Given the description of an element on the screen output the (x, y) to click on. 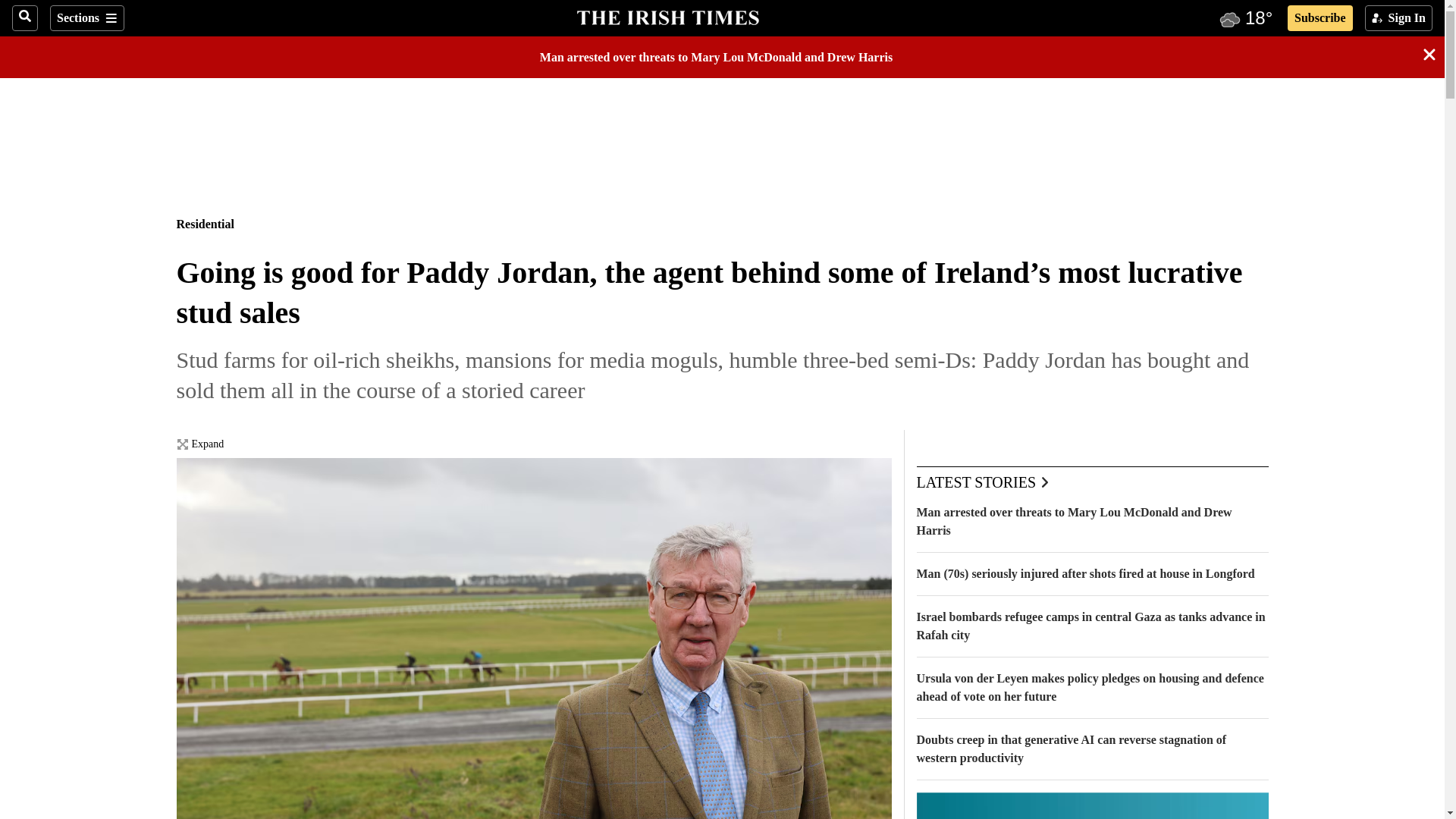
Sections (86, 17)
The Irish Times (667, 16)
Subscribe (1319, 17)
Sign In (1398, 17)
